Given the description of an element on the screen output the (x, y) to click on. 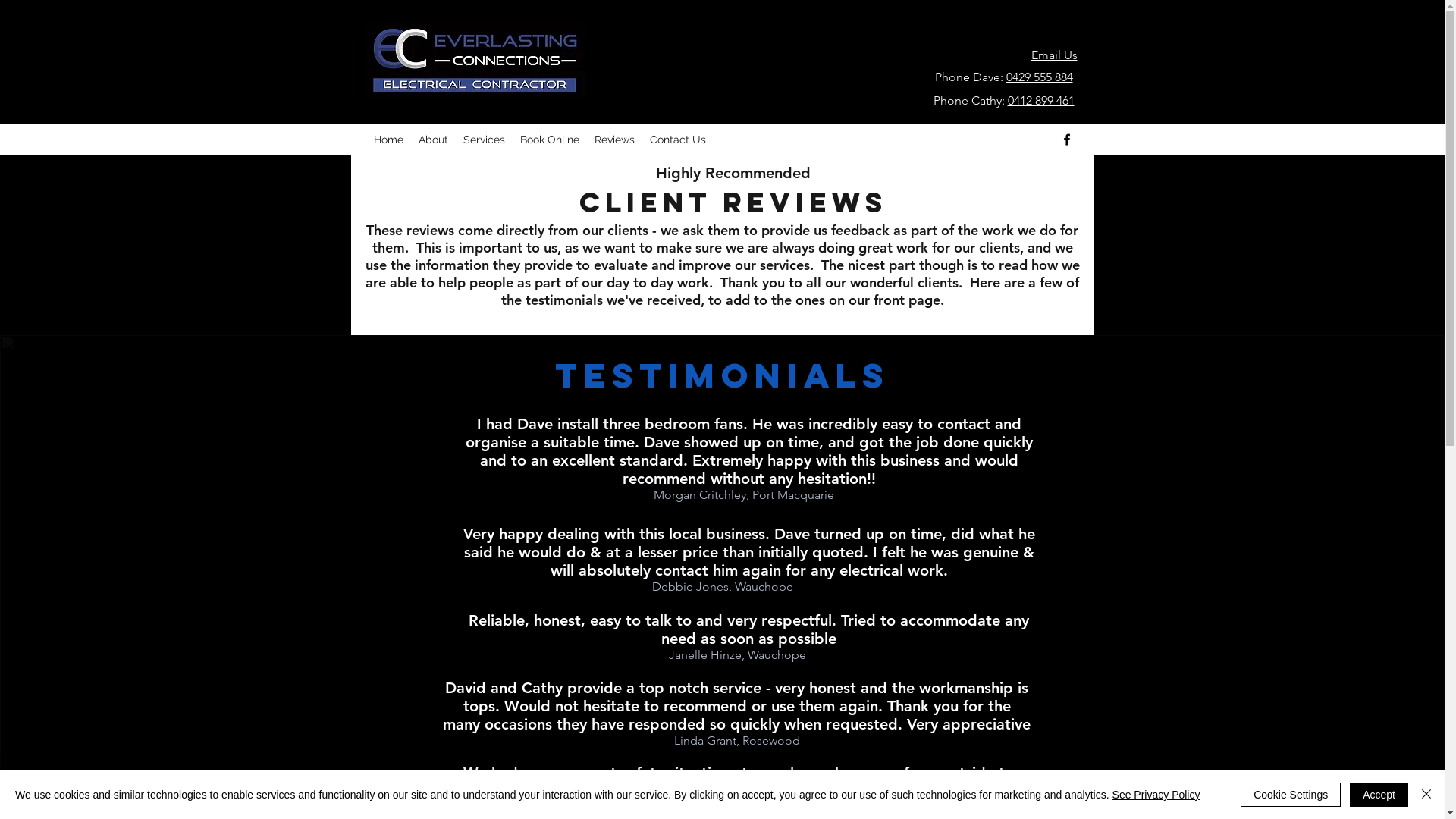
0412 899 461 Element type: text (1040, 100)
Embedded Content Element type: hover (673, 10)
Services Element type: text (483, 139)
Reviews Element type: text (614, 139)
front page. Element type: text (908, 299)
0429 555 884 Element type: text (1038, 76)
See Privacy Policy Element type: text (1156, 794)
Book Online Element type: text (549, 139)
About Element type: text (433, 139)
Home Element type: text (387, 139)
Email Us Element type: text (1054, 54)
Cookie Settings Element type: text (1290, 794)
Contact Us Element type: text (676, 139)
Accept Element type: text (1378, 794)
